Given the description of an element on the screen output the (x, y) to click on. 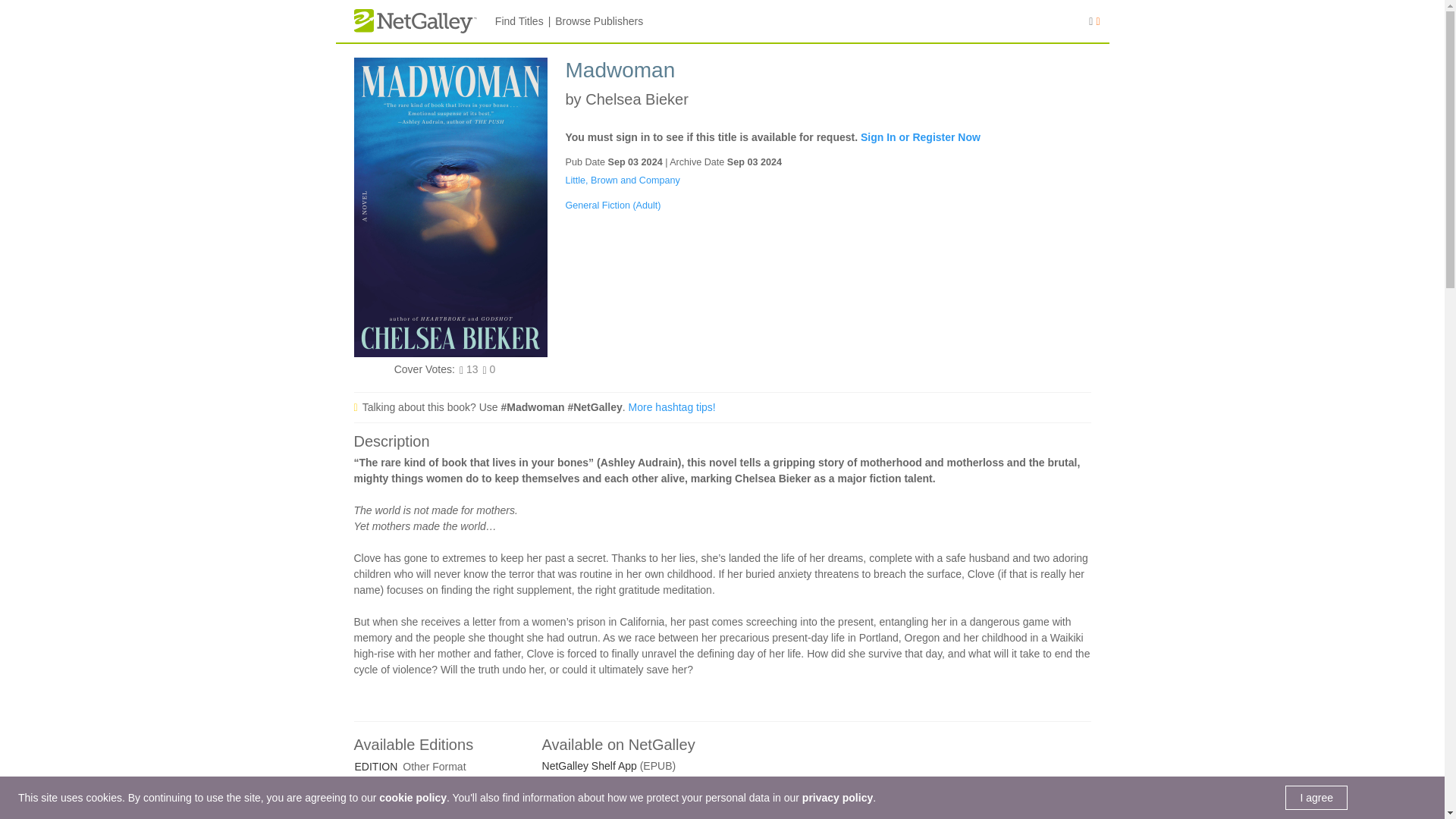
Little, Brown and Company (622, 180)
More hashtag tips! (672, 407)
Find Titles (519, 21)
Browse Publishers (598, 21)
13 (471, 369)
Sign In or Register Now (919, 137)
